Given the description of an element on the screen output the (x, y) to click on. 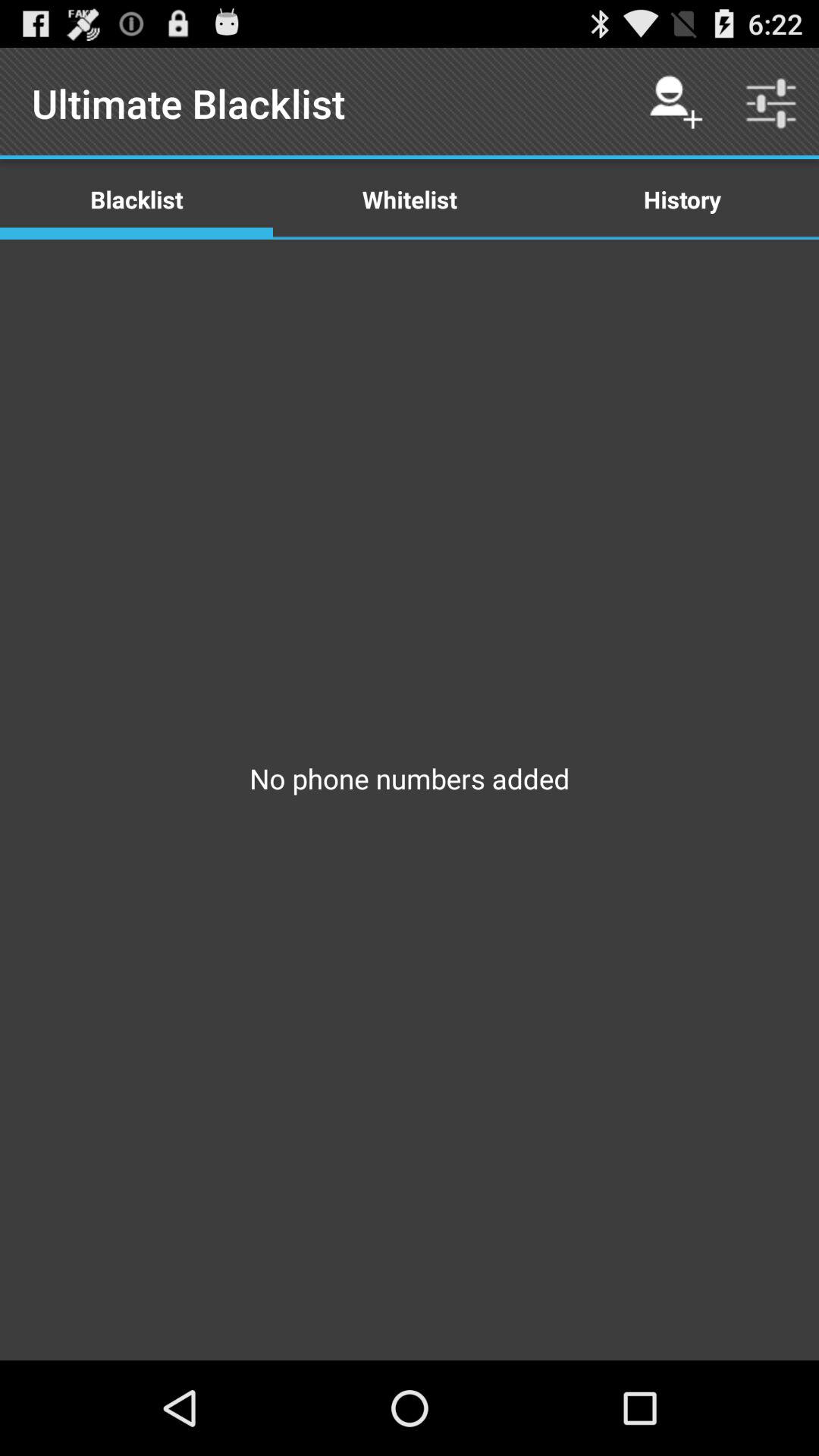
flip until the whitelist item (409, 199)
